Given the description of an element on the screen output the (x, y) to click on. 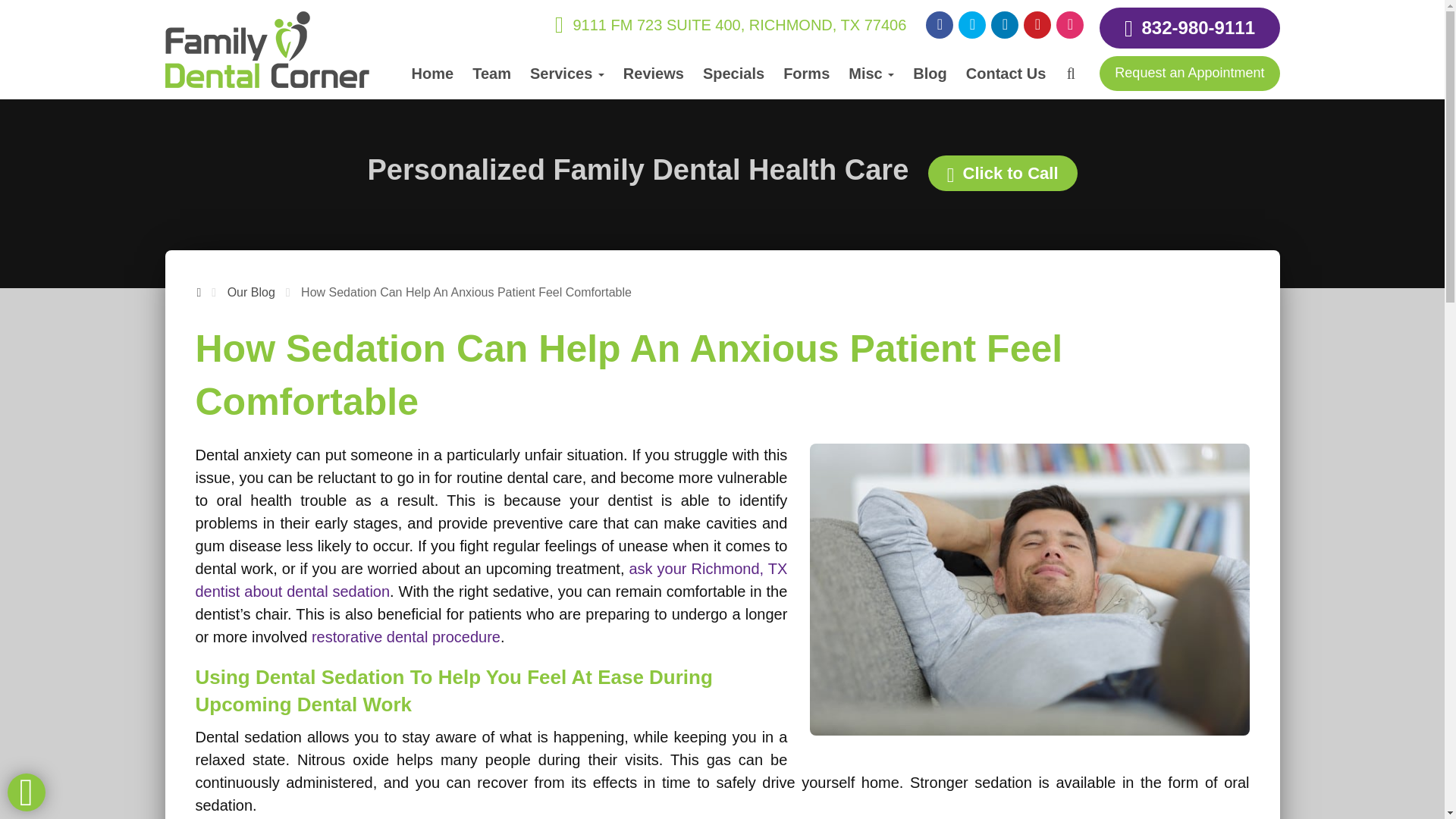
Pinterest (1037, 24)
Contact Us (1006, 72)
Reviews (653, 72)
Team (491, 72)
How Sedation Can Help An Anxious Patient Feel Comfortable (1029, 589)
9111 FM 723 SUITE 400, RICHMOND, TX 77406 (729, 24)
Services (566, 72)
Forms (806, 72)
Misc (871, 72)
Facebook (939, 24)
